Given the description of an element on the screen output the (x, y) to click on. 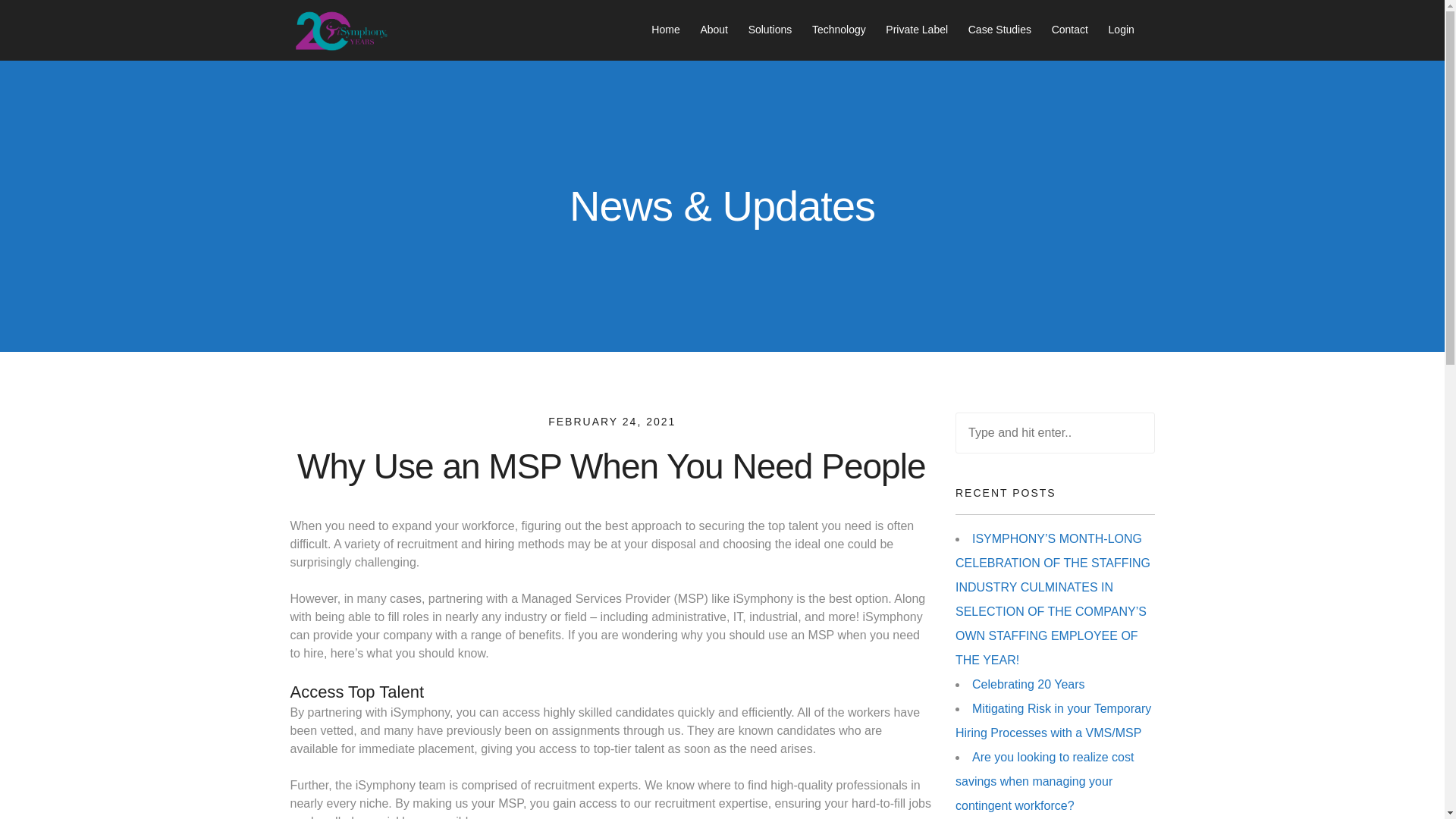
Login (1121, 29)
Home (664, 29)
Solutions (770, 29)
About (714, 29)
Celebrating 20 Years (1028, 684)
Contact (1069, 29)
Why Use an MSP When You Need People (610, 466)
Technology (839, 29)
Case Studies (999, 29)
Private Label (916, 29)
